Given the description of an element on the screen output the (x, y) to click on. 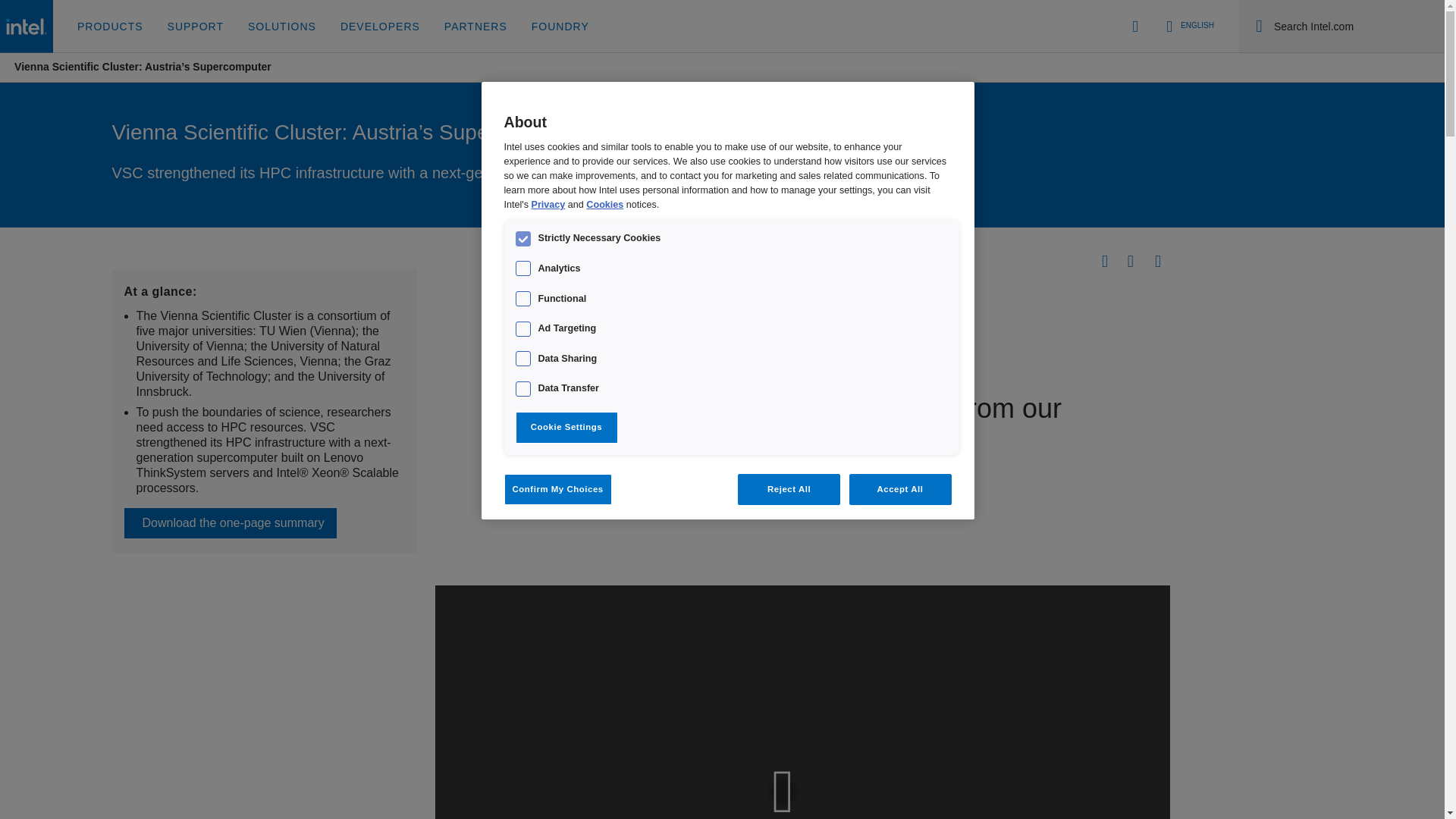
Play Video (801, 788)
Sign In (1135, 26)
Language Selector (1187, 26)
PRODUCTS (110, 26)
